Given the description of an element on the screen output the (x, y) to click on. 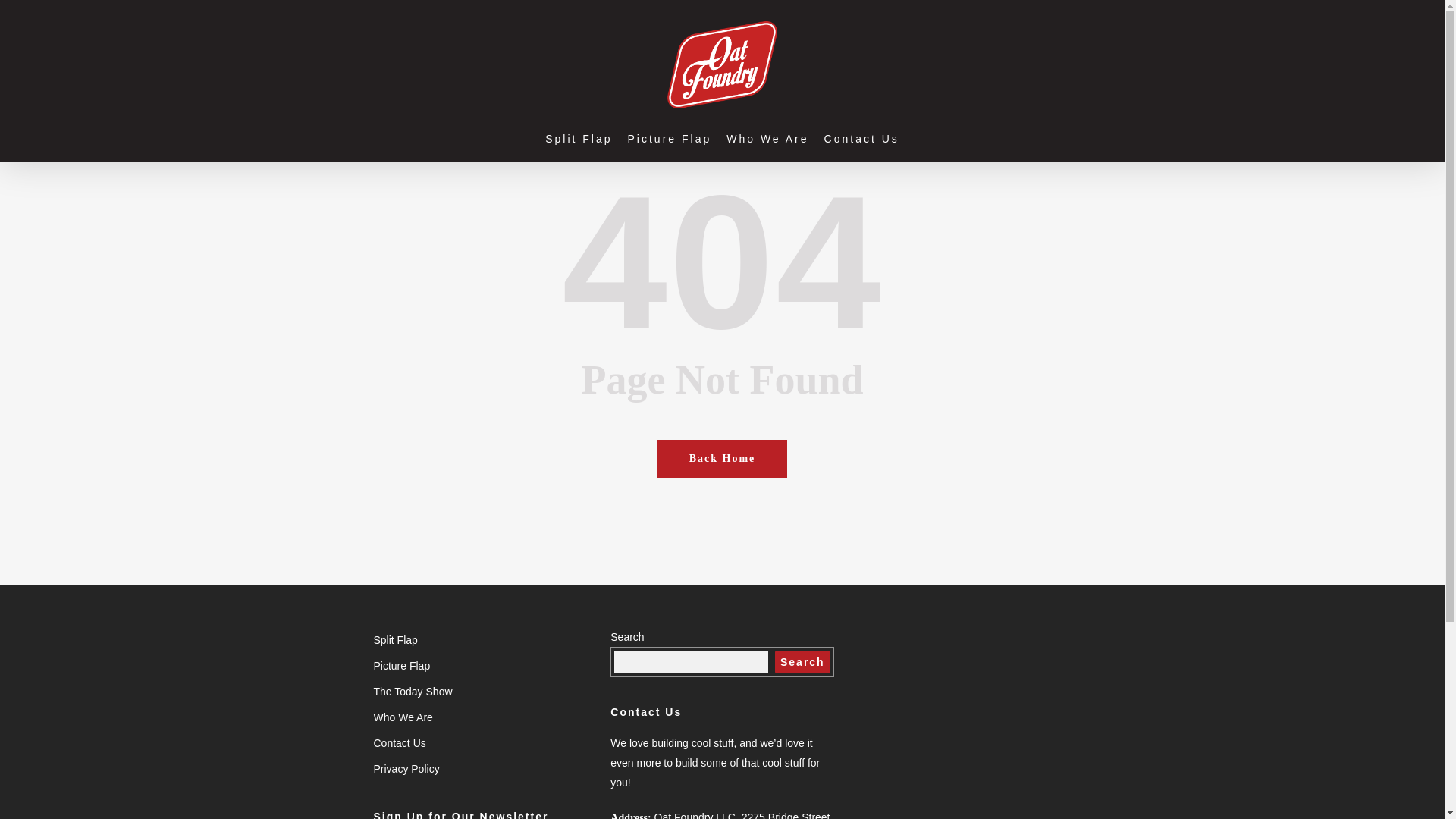
Picture Flap (669, 138)
Privacy Policy (483, 768)
Contact Us (861, 138)
Search (801, 661)
Who We Are (767, 138)
Who We Are (483, 717)
The Today Show (483, 691)
Split Flap (483, 639)
Contact Us (483, 742)
Back Home (722, 458)
Picture Flap (483, 665)
Split Flap (578, 138)
